Given the description of an element on the screen output the (x, y) to click on. 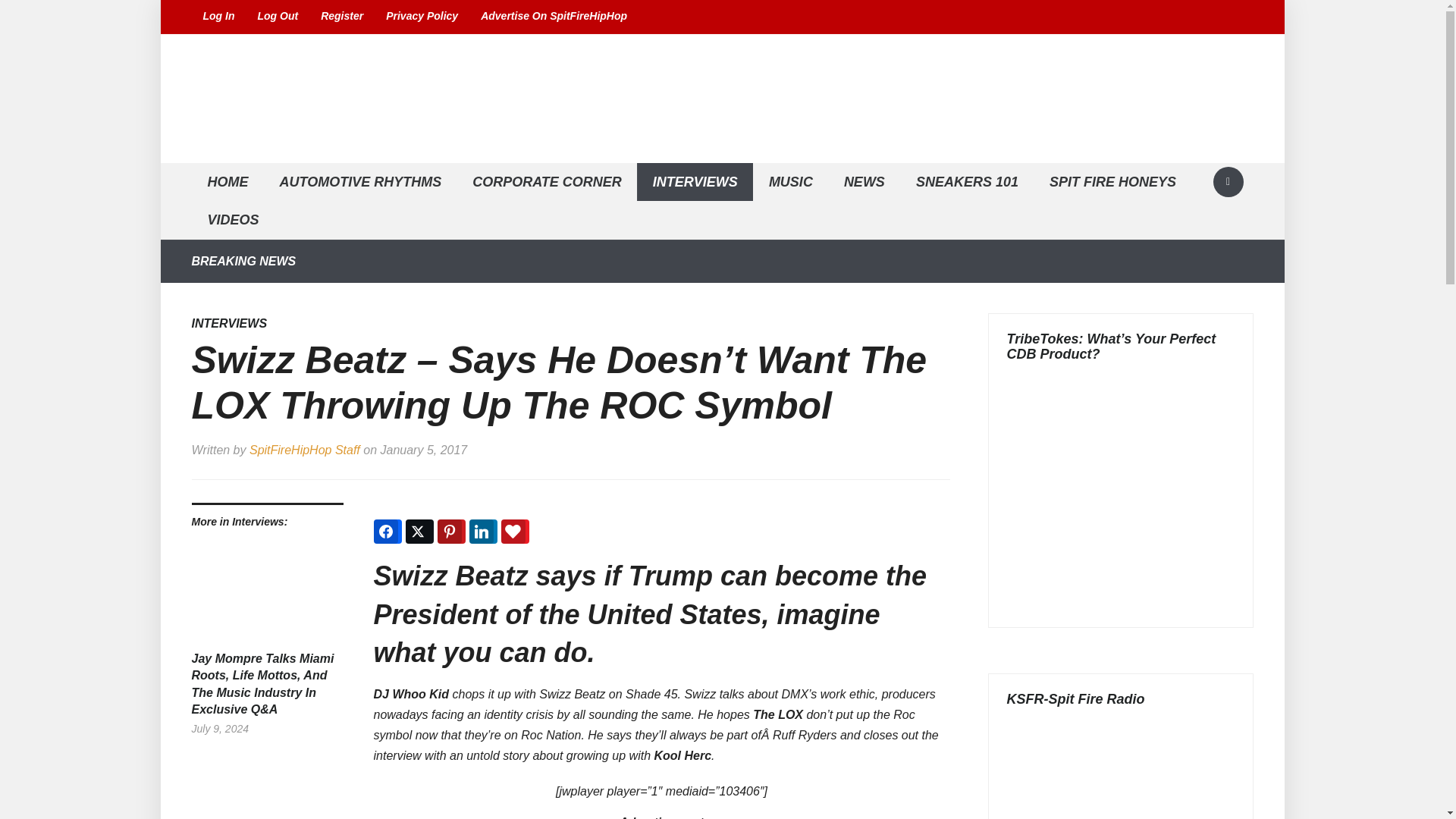
HOME (226, 181)
INTERVIEWS (694, 181)
AUTOMOTIVE RHYTHMS (360, 181)
Search (1227, 182)
Register (341, 16)
Privacy Policy (421, 16)
Advertise On SpitFireHipHop (553, 16)
Log Out (277, 16)
MUSIC (790, 181)
CORPORATE CORNER (547, 181)
